Given the description of an element on the screen output the (x, y) to click on. 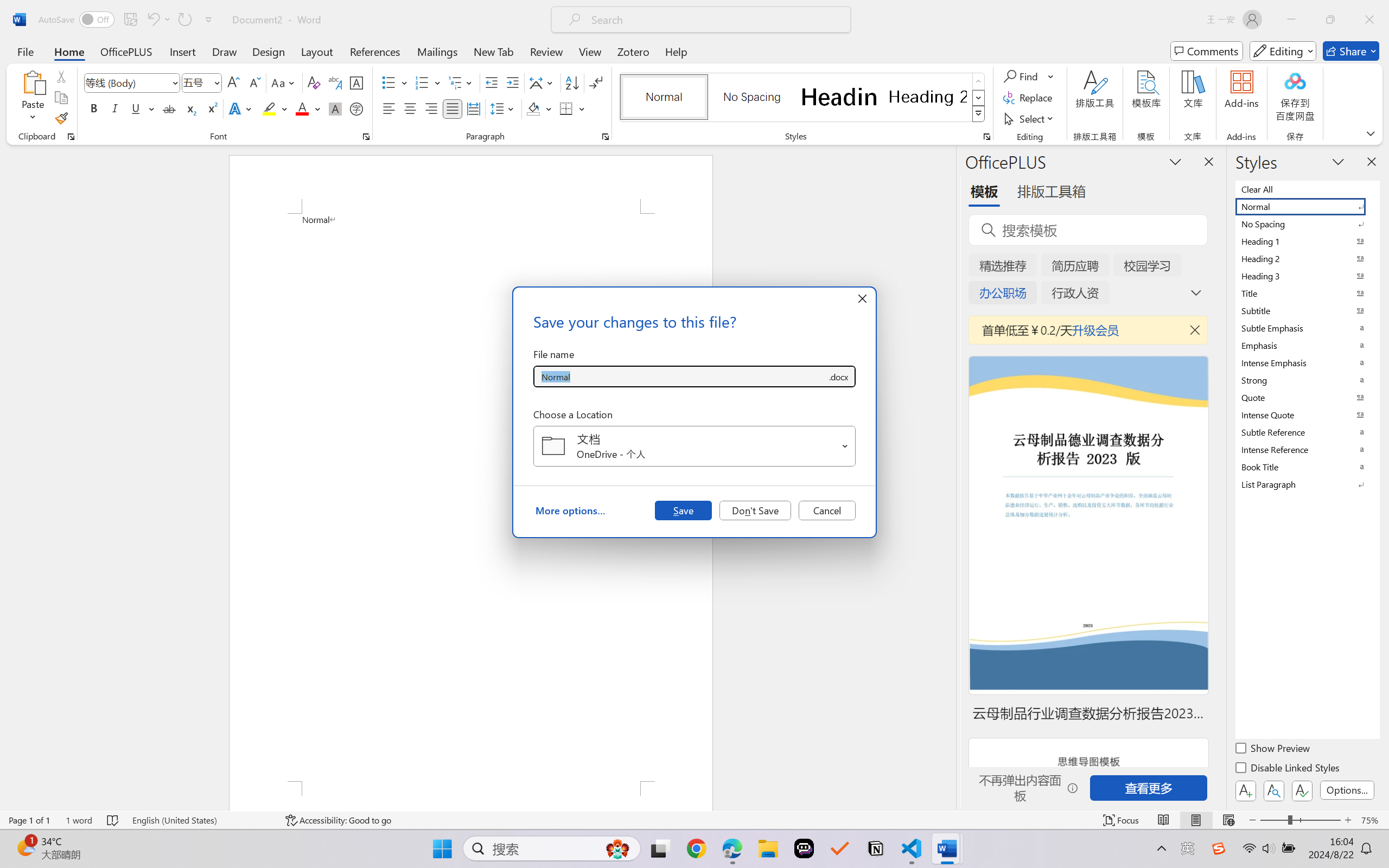
List Paragraph (1306, 484)
Show Preview (1273, 749)
Office Clipboard... (70, 136)
Grow Font (233, 82)
Shrink Font (253, 82)
Disable Linked Styles (1287, 769)
Paragraph... (605, 136)
Print Layout (1196, 819)
Microsoft search (715, 19)
Replace... (1029, 97)
Poe (804, 848)
